Given the description of an element on the screen output the (x, y) to click on. 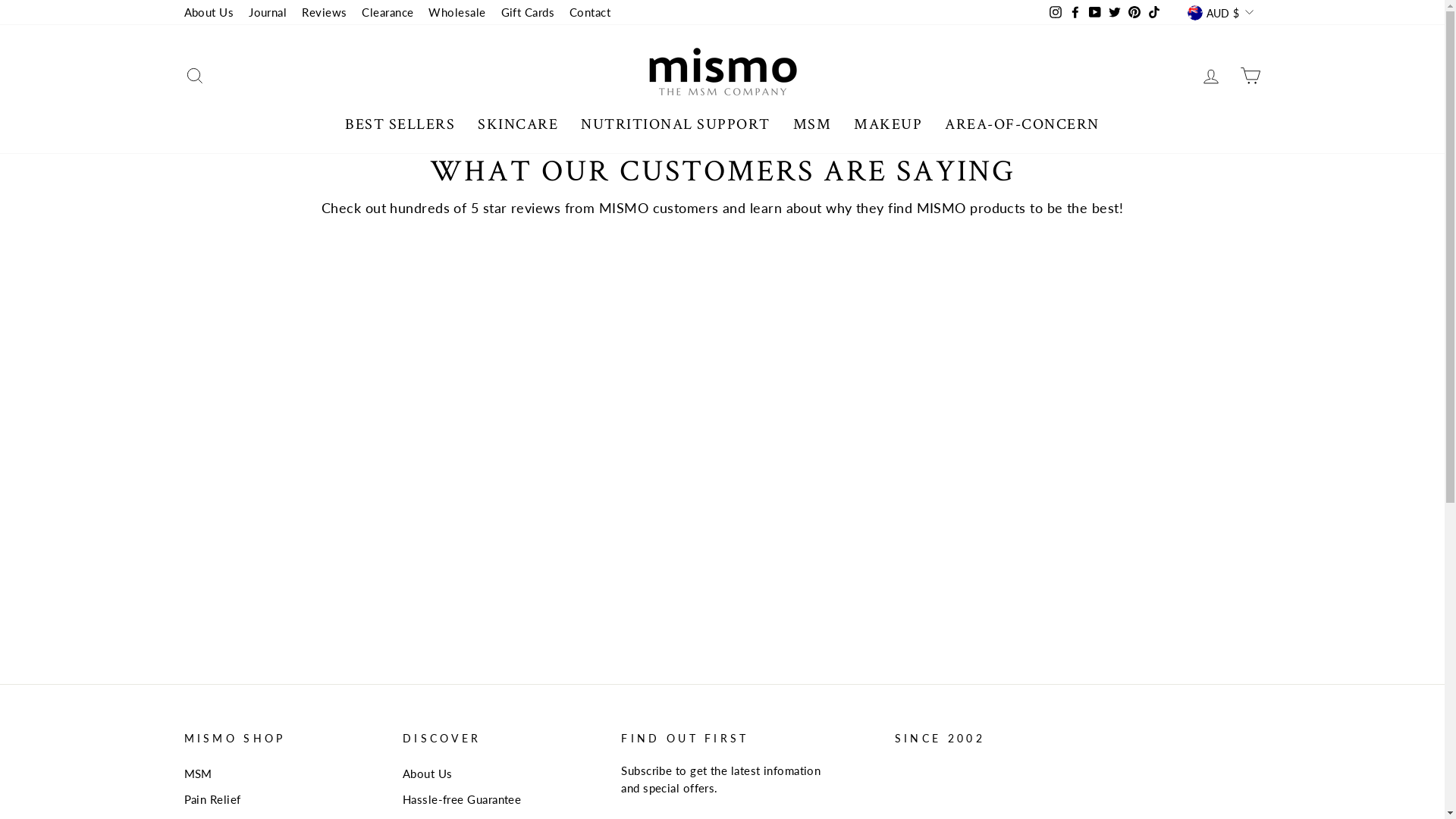
MSM Element type: text (197, 773)
About Us Element type: text (208, 12)
Wholesale Element type: text (456, 12)
MAKEUP Element type: text (887, 123)
Gift Cards Element type: text (527, 12)
Facebook Element type: text (1075, 12)
Pinterest Element type: text (1134, 12)
AUD $ Element type: text (1220, 12)
BEST SELLERS Element type: text (399, 123)
Skip to content Element type: text (0, 0)
CART Element type: text (1249, 74)
MSM Element type: text (812, 123)
Clearance Element type: text (387, 12)
Contact Element type: text (589, 12)
SKINCARE Element type: text (517, 123)
About Us Element type: text (427, 773)
TikTok Element type: text (1154, 12)
LOG IN Element type: text (1210, 74)
Pain Relief Element type: text (211, 799)
Hassle-free Guarantee Element type: text (461, 799)
Instagram Element type: text (1055, 12)
YouTube Element type: text (1094, 12)
SEARCH Element type: text (193, 74)
AREA-OF-CONCERN Element type: text (1021, 123)
Reviews Element type: text (324, 12)
Twitter Element type: text (1114, 12)
NUTRITIONAL SUPPORT Element type: text (675, 123)
Journal Element type: text (267, 12)
